Given the description of an element on the screen output the (x, y) to click on. 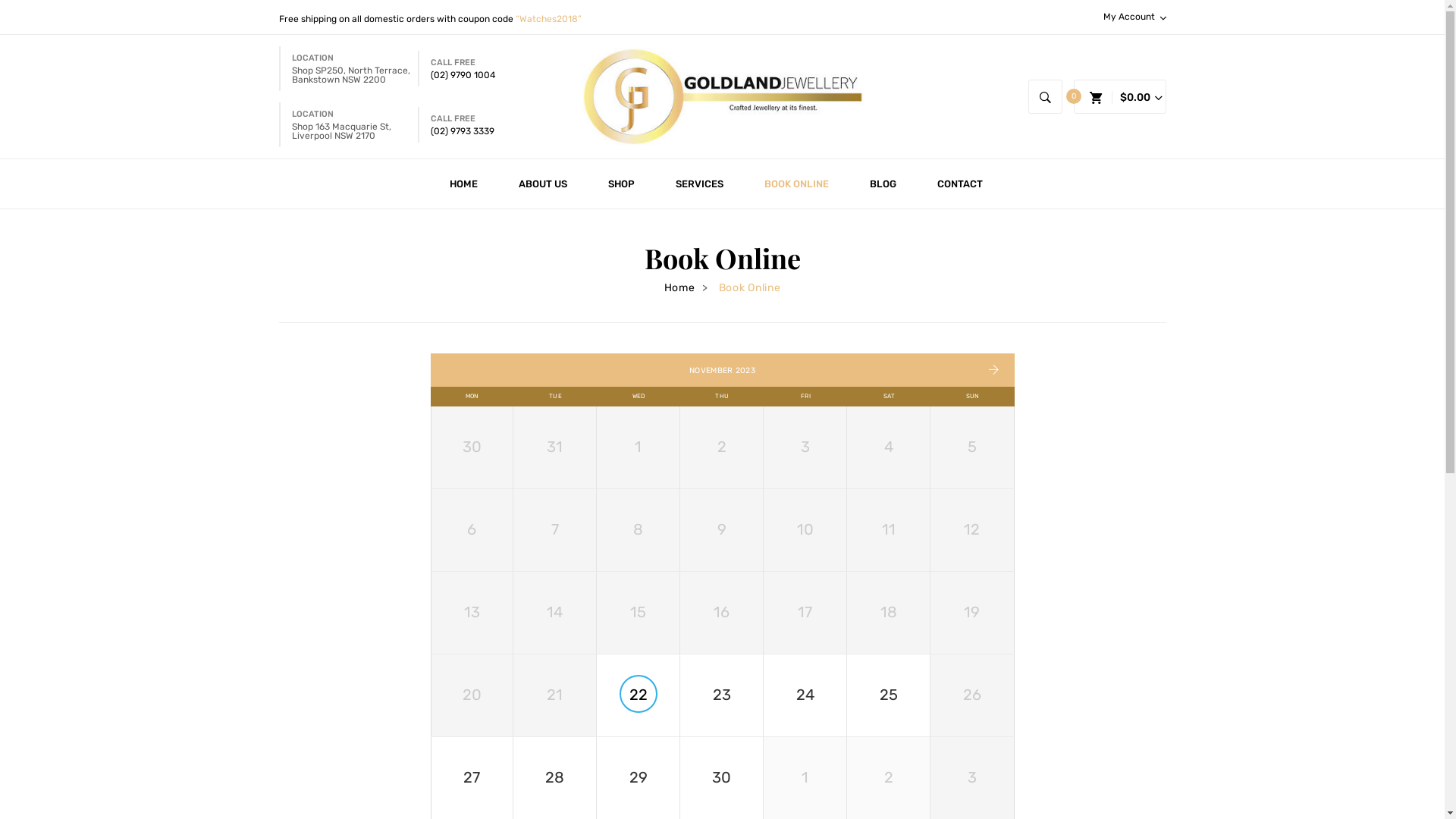
(02) 9793 3339 Element type: text (462, 130)
Goldland Jewellery Element type: hover (722, 96)
SERVICES Element type: text (699, 183)
BLOG Element type: text (882, 183)
BOOK ONLINE Element type: text (795, 183)
CONTACT Element type: text (958, 183)
Home Element type: text (679, 287)
ABOUT US Element type: text (542, 183)
My cart
0
$0.00 Element type: text (1119, 97)
SHOP Element type: text (620, 183)
(02) 9790 1004 Element type: text (462, 74)
HOME Element type: text (468, 183)
